Given the description of an element on the screen output the (x, y) to click on. 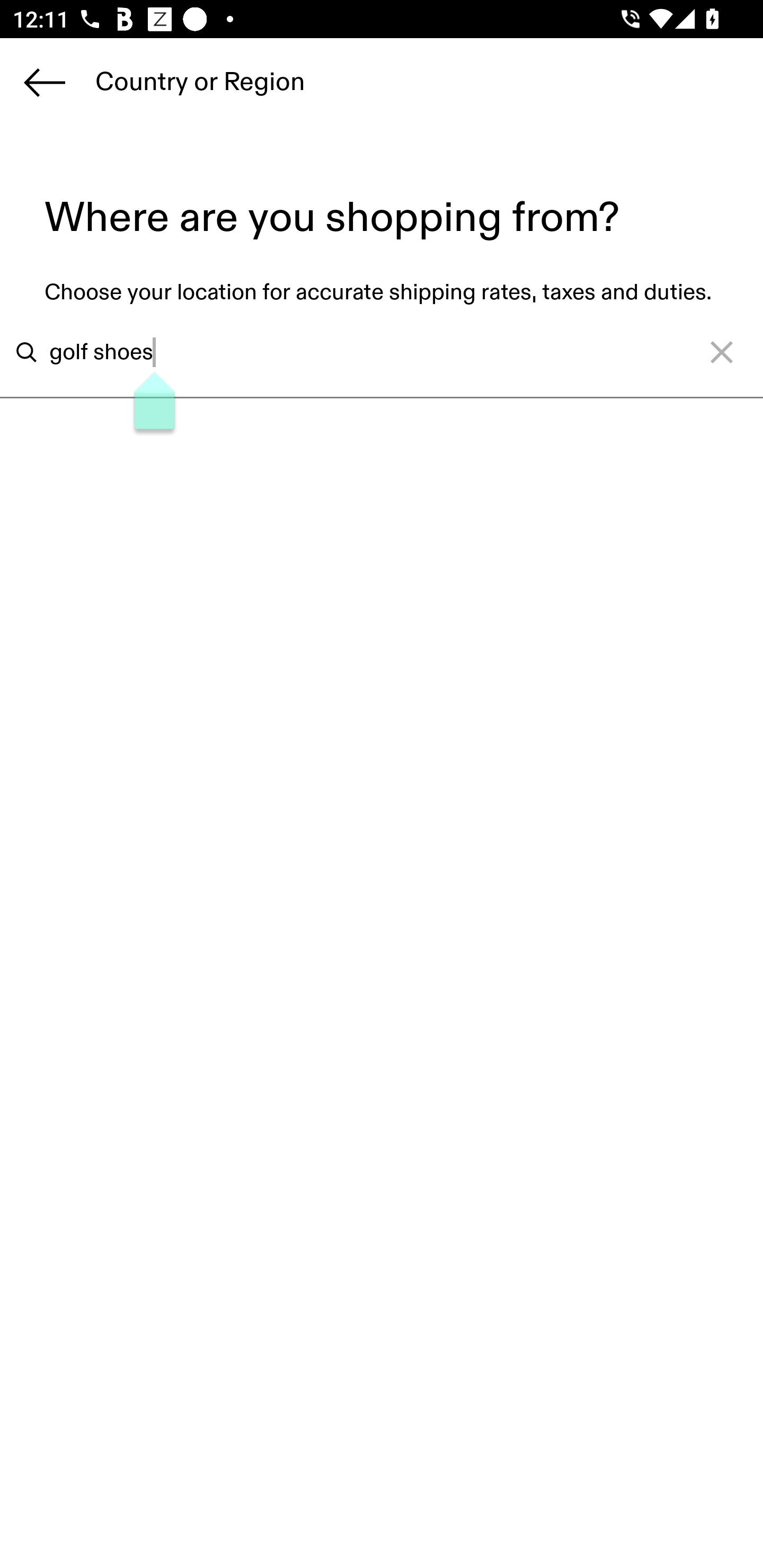
Navigate up (44, 82)
golf shoes (355, 352)
